Given the description of an element on the screen output the (x, y) to click on. 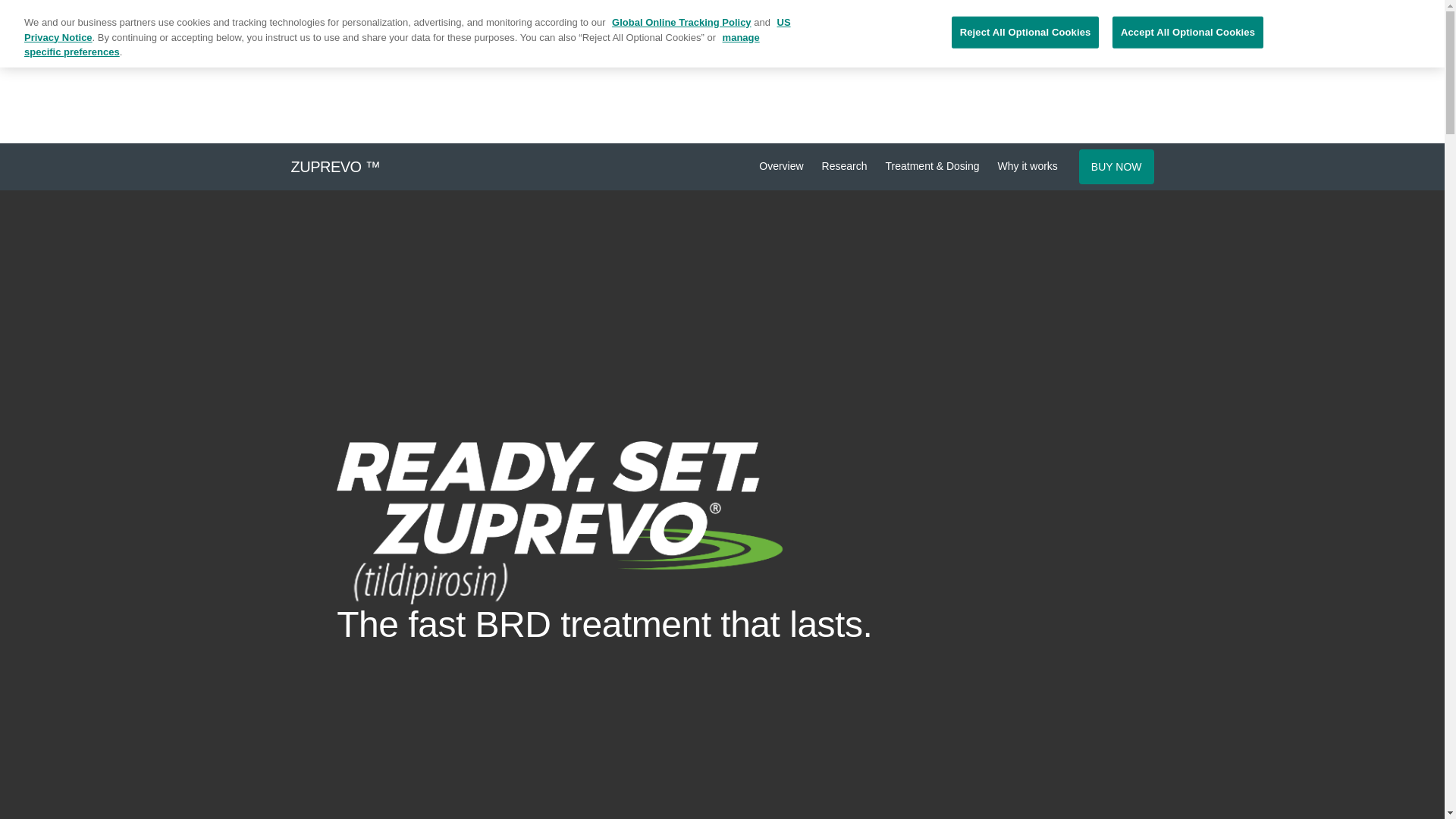
PRODUCTS (846, 46)
SPECIES (743, 46)
ABOUT US (644, 46)
